Given the description of an element on the screen output the (x, y) to click on. 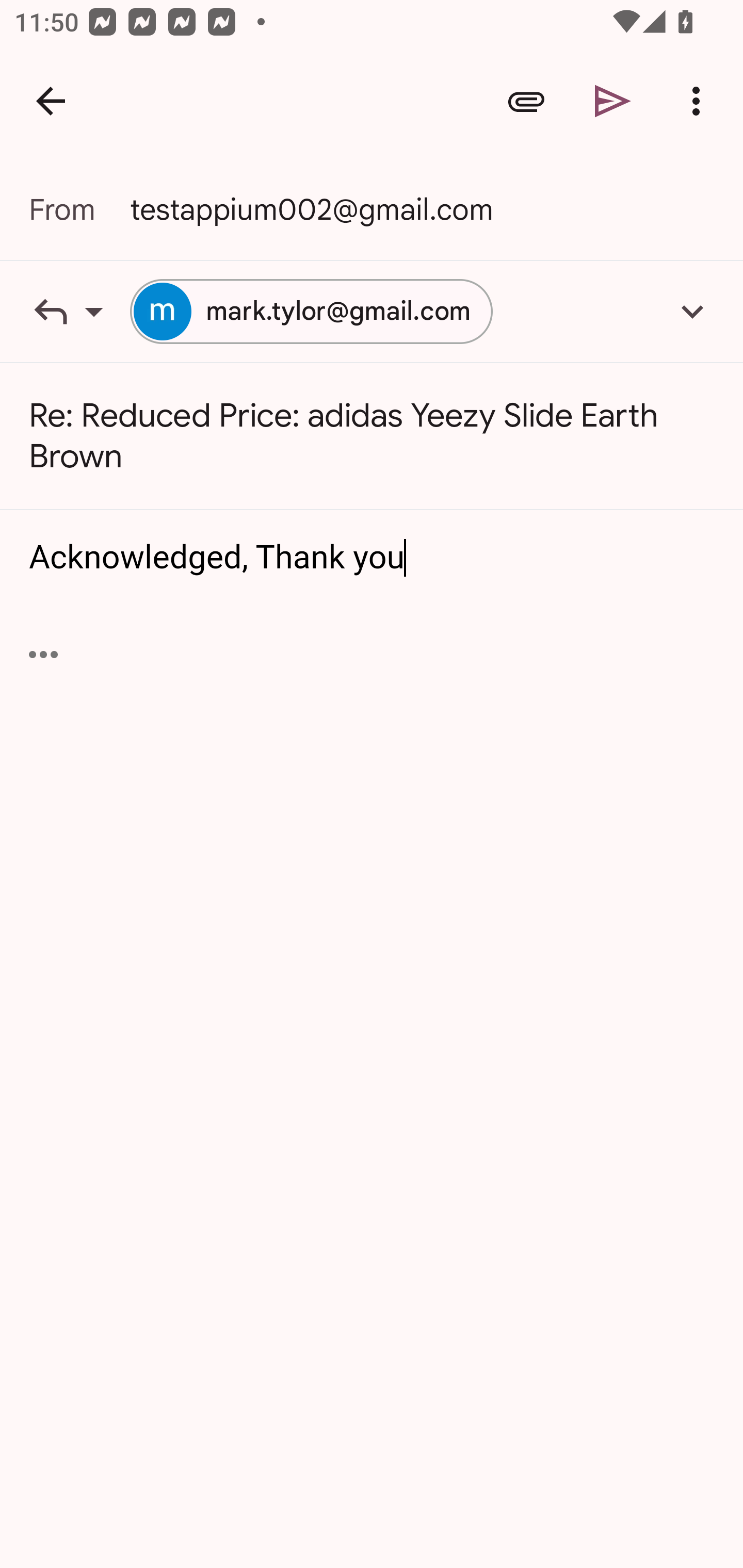
Navigate up (50, 101)
Attach file (525, 101)
Send (612, 101)
More options (699, 101)
From (79, 209)
Reply (79, 311)
Add Cc/Bcc (692, 311)
Re: Reduced Price: adidas Yeezy Slide Earth Brown (371, 436)
Acknowledged, Thank you (372, 558)
Include quoted text (43, 654)
